Given the description of an element on the screen output the (x, y) to click on. 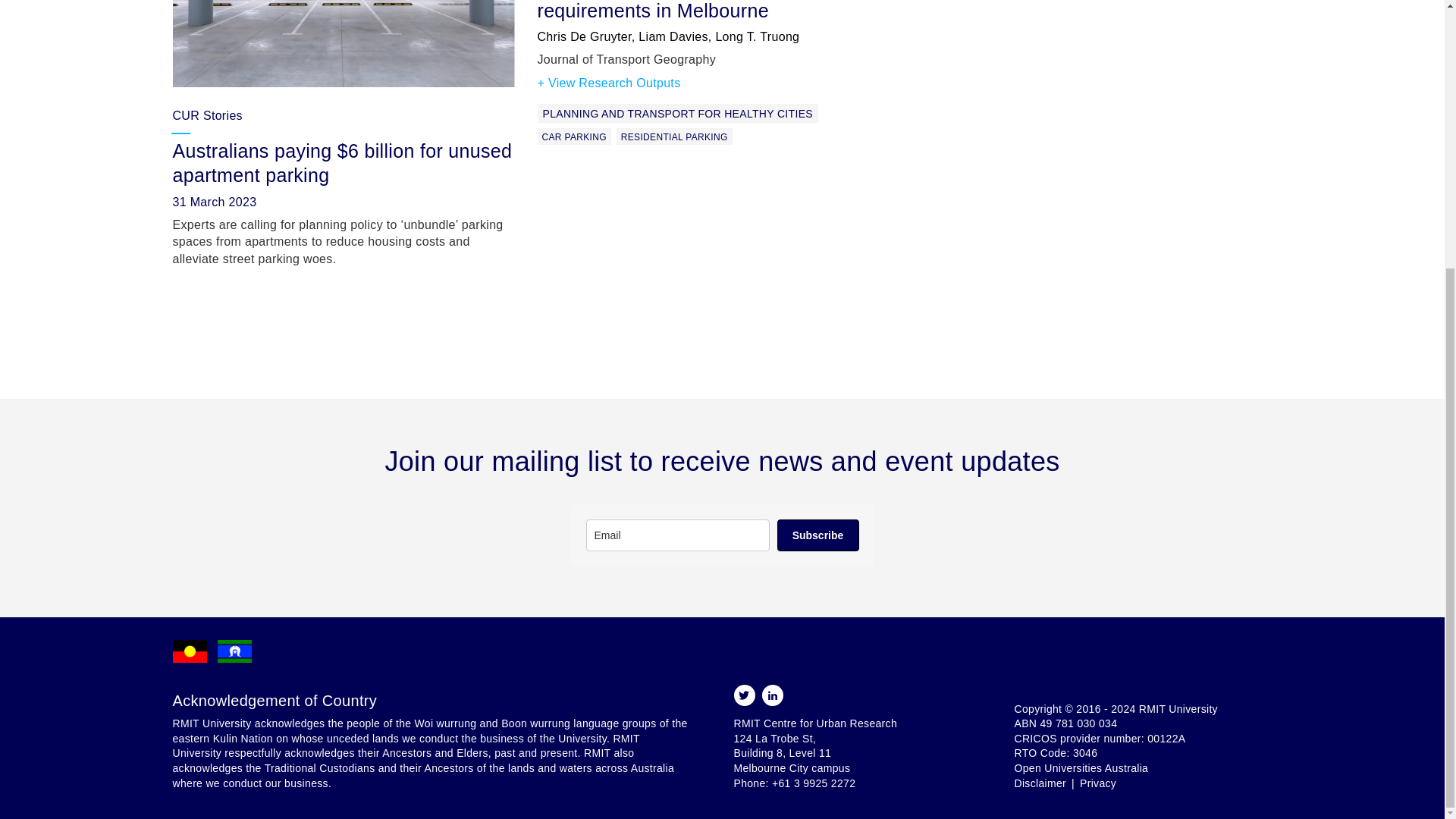
Liam Davies (673, 36)
CAR PARKING (573, 135)
Chris De Gruyter (583, 36)
CUR Stories (208, 115)
Subscribe (817, 535)
RESIDENTIAL PARKING (673, 135)
View Research Outputs (608, 83)
PLANNING AND TRANSPORT FOR HEALTHY CITIES (676, 113)
